Given the description of an element on the screen output the (x, y) to click on. 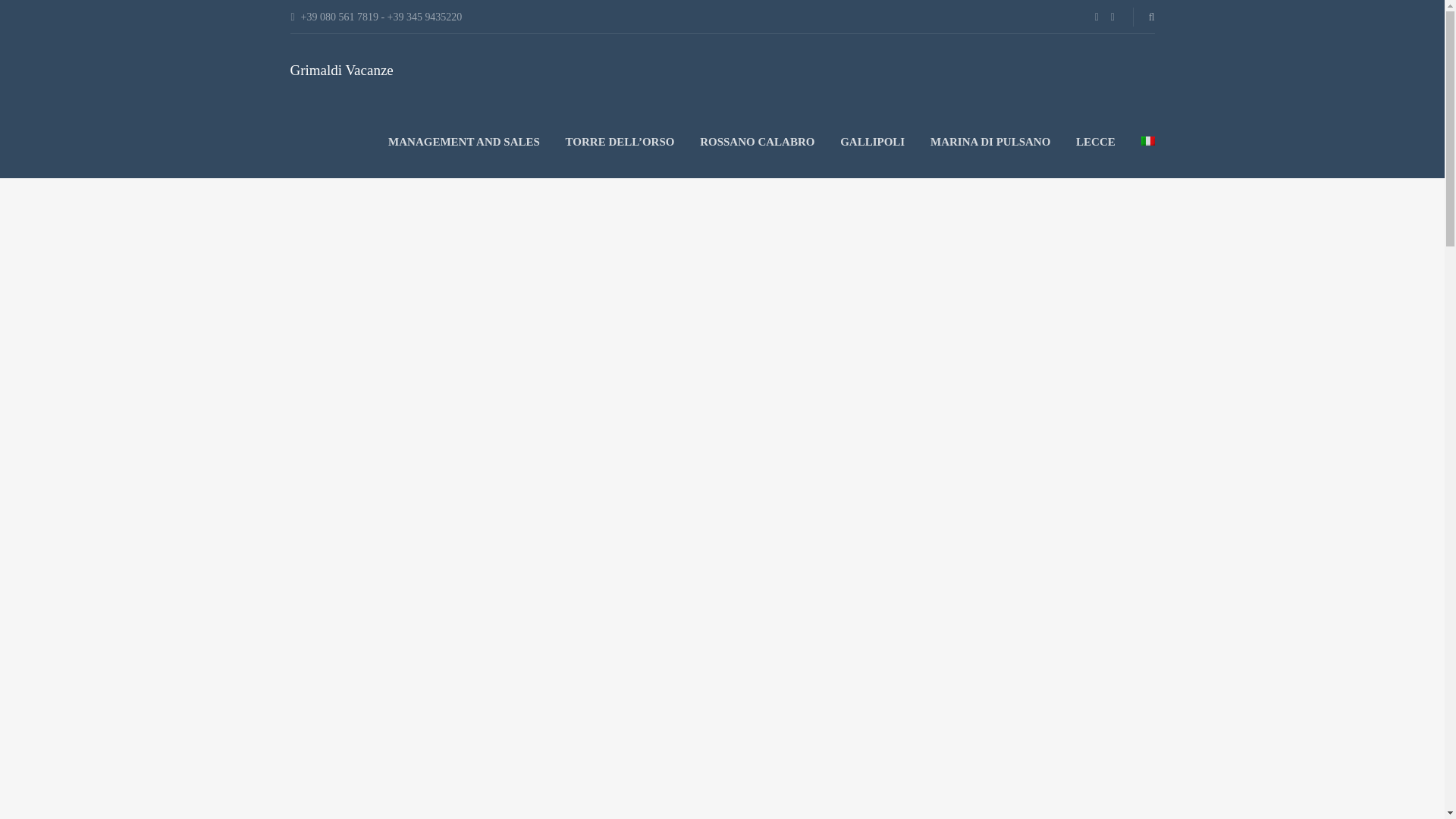
MANAGEMENT AND SALES (464, 141)
MARINA DI PULSANO (989, 141)
Grimaldi Vacanze (341, 70)
GALLIPOLI (872, 141)
ROSSANO CALABRO (756, 141)
LECCE (1095, 141)
